Given the description of an element on the screen output the (x, y) to click on. 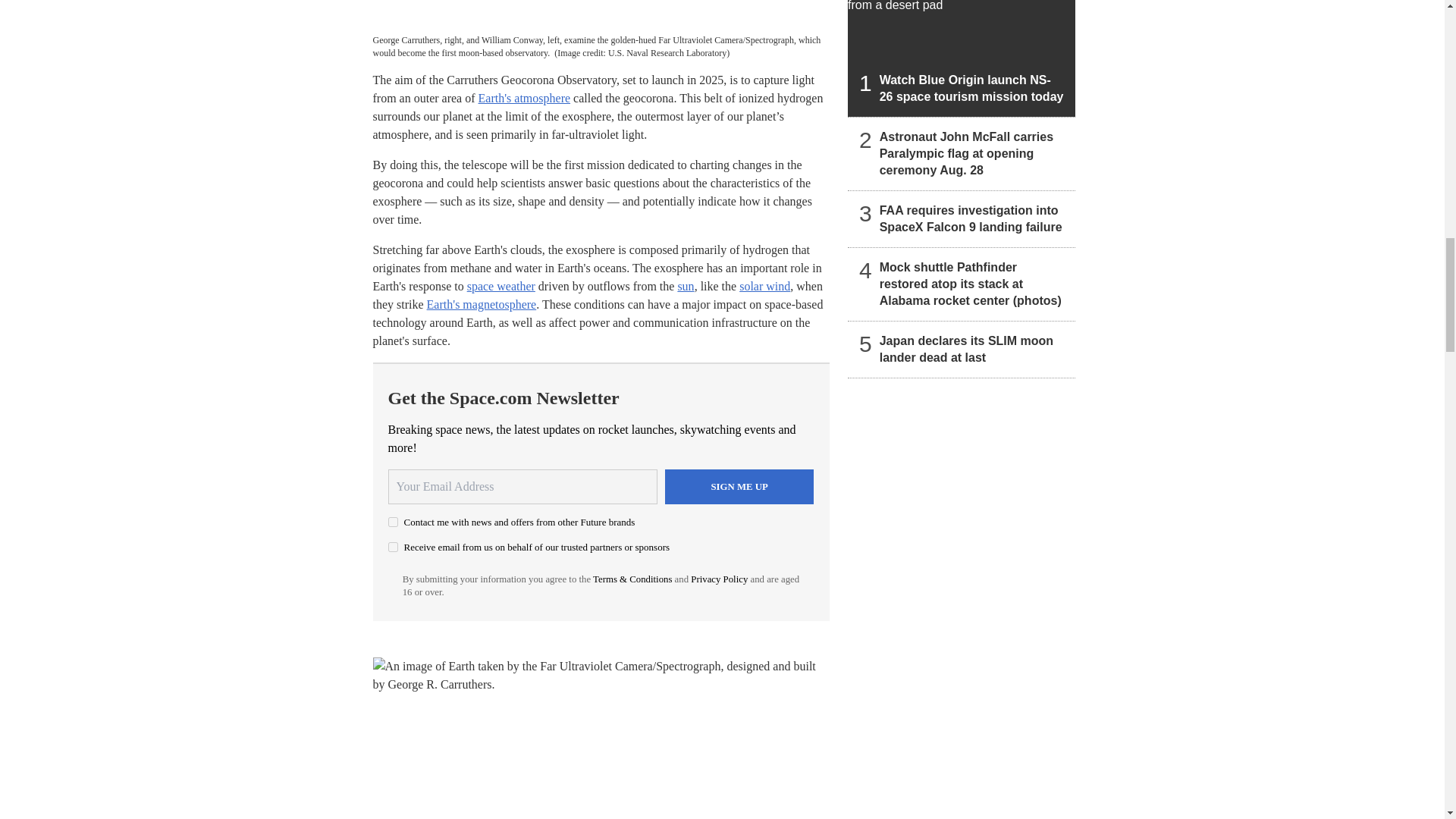
on (392, 521)
Watch Blue Origin launch NS-26 space tourism mission today (961, 58)
on (392, 547)
Sign me up (739, 486)
